Given the description of an element on the screen output the (x, y) to click on. 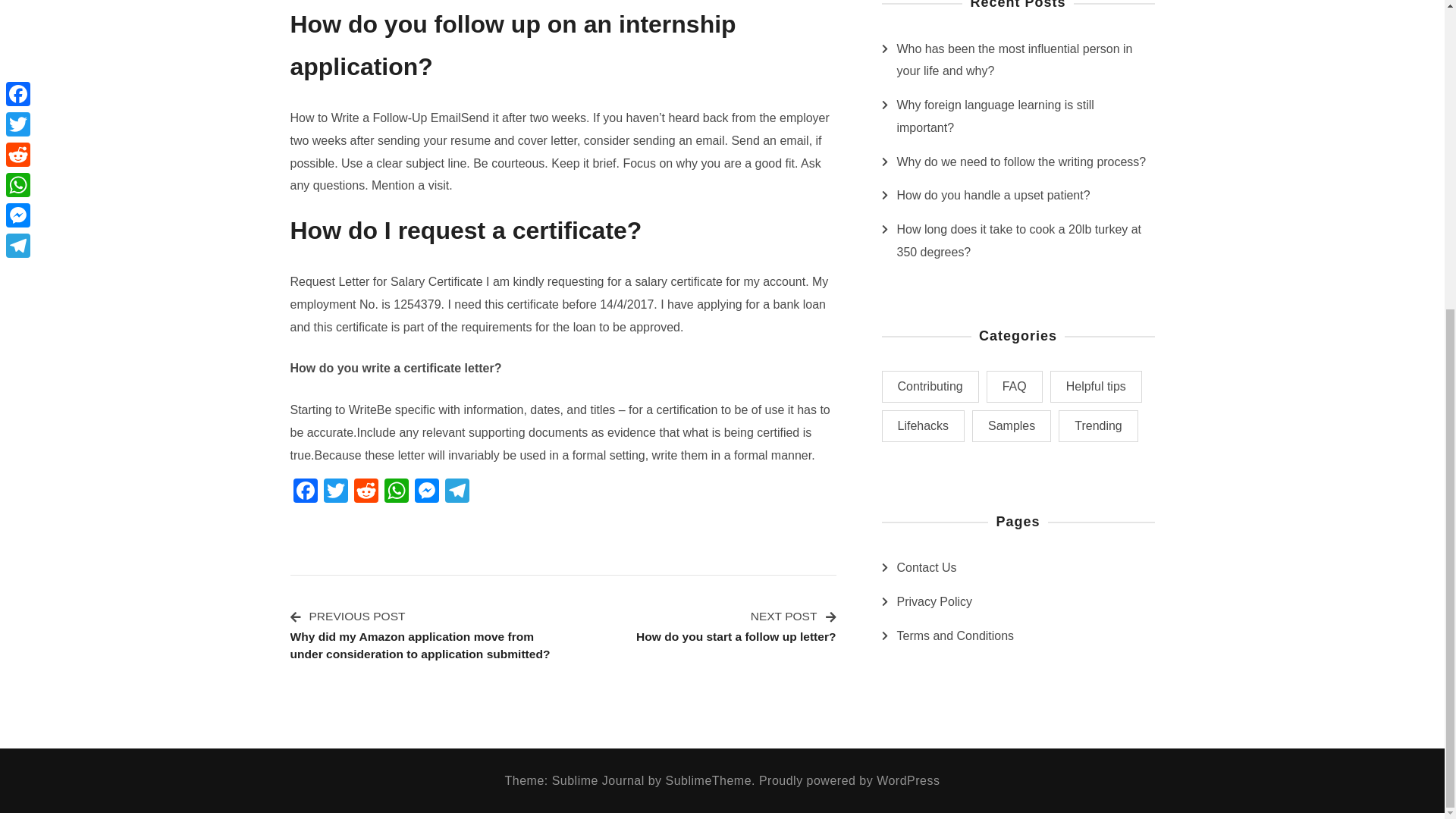
Helpful tips (1095, 386)
Telegram (456, 492)
Telegram (456, 492)
Facebook (304, 492)
Messenger (425, 492)
WhatsApp (395, 492)
Facebook (304, 492)
Reddit (365, 492)
Why foreign language learning is still important? (1025, 116)
Privacy Policy (933, 601)
SublimeTheme (708, 780)
WhatsApp (395, 492)
Terms and Conditions (954, 635)
FAQ (1014, 386)
